Given the description of an element on the screen output the (x, y) to click on. 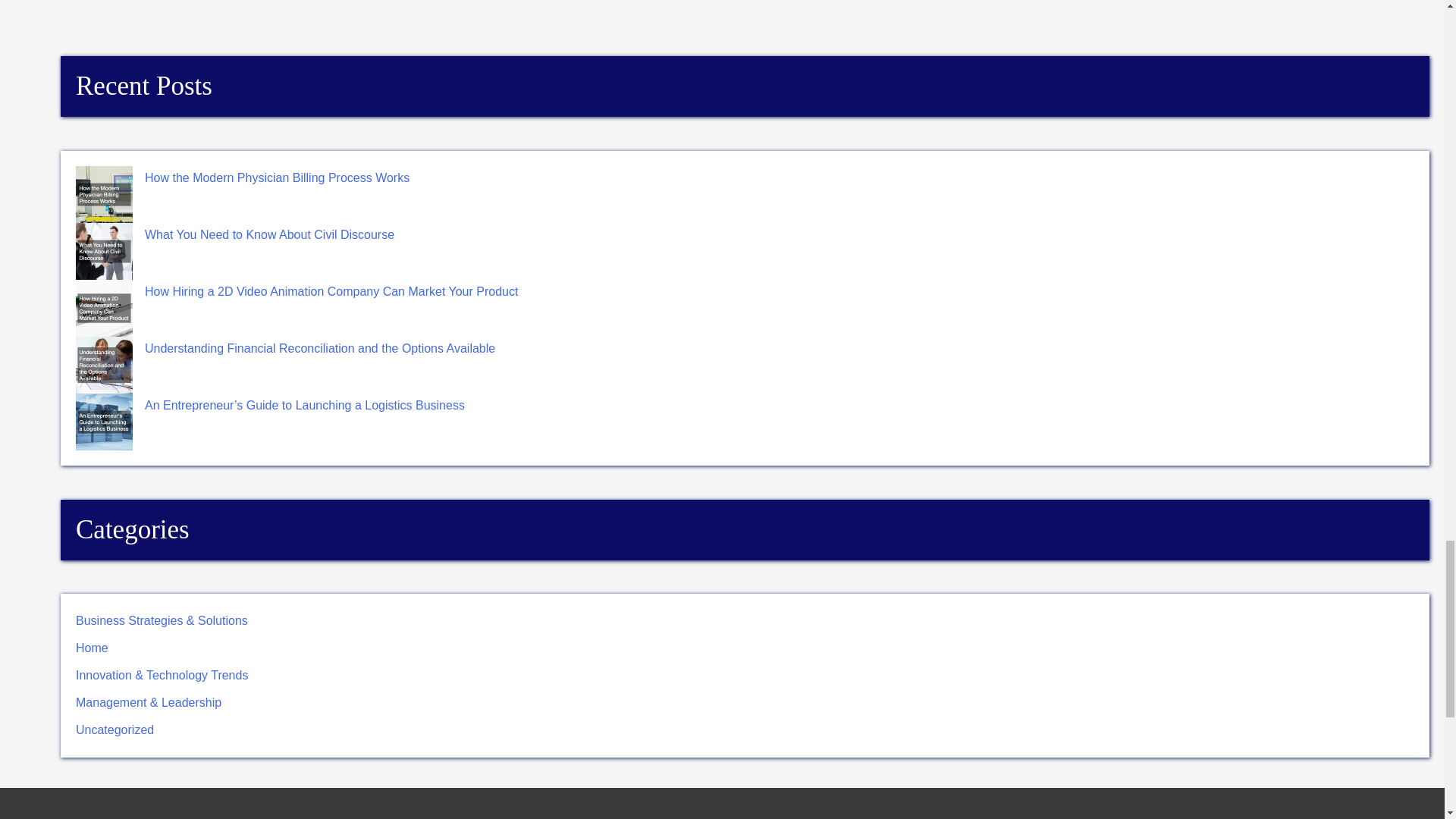
What You Need to Know About Civil Discourse (269, 234)
Uncategorized (114, 729)
Home (91, 647)
How the Modern Physician Billing Process Works (276, 177)
